Given the description of an element on the screen output the (x, y) to click on. 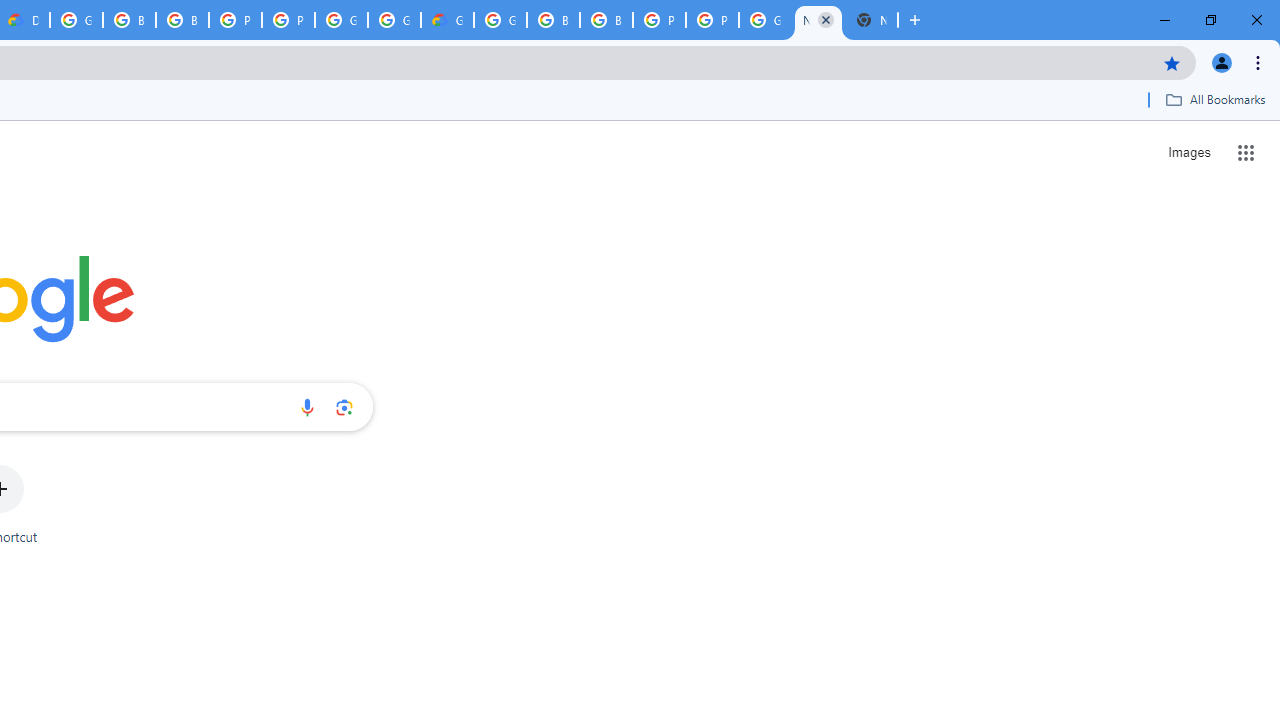
Google Cloud Platform (394, 20)
Google Cloud Platform (765, 20)
Search by image (344, 407)
Google Cloud Platform (341, 20)
New Tab (871, 20)
All Bookmarks (1215, 99)
